Given the description of an element on the screen output the (x, y) to click on. 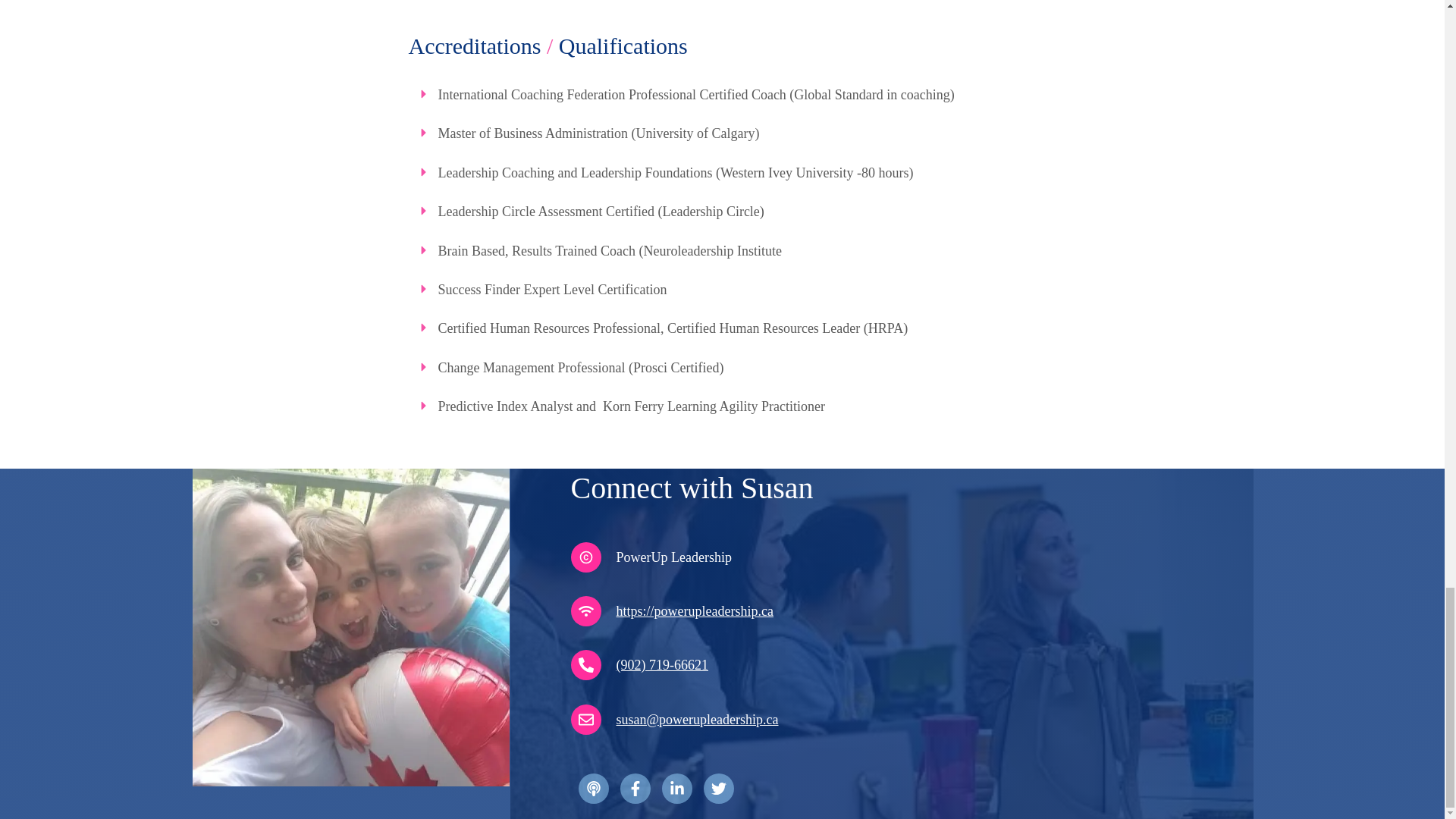
susan boys (350, 627)
